Given the description of an element on the screen output the (x, y) to click on. 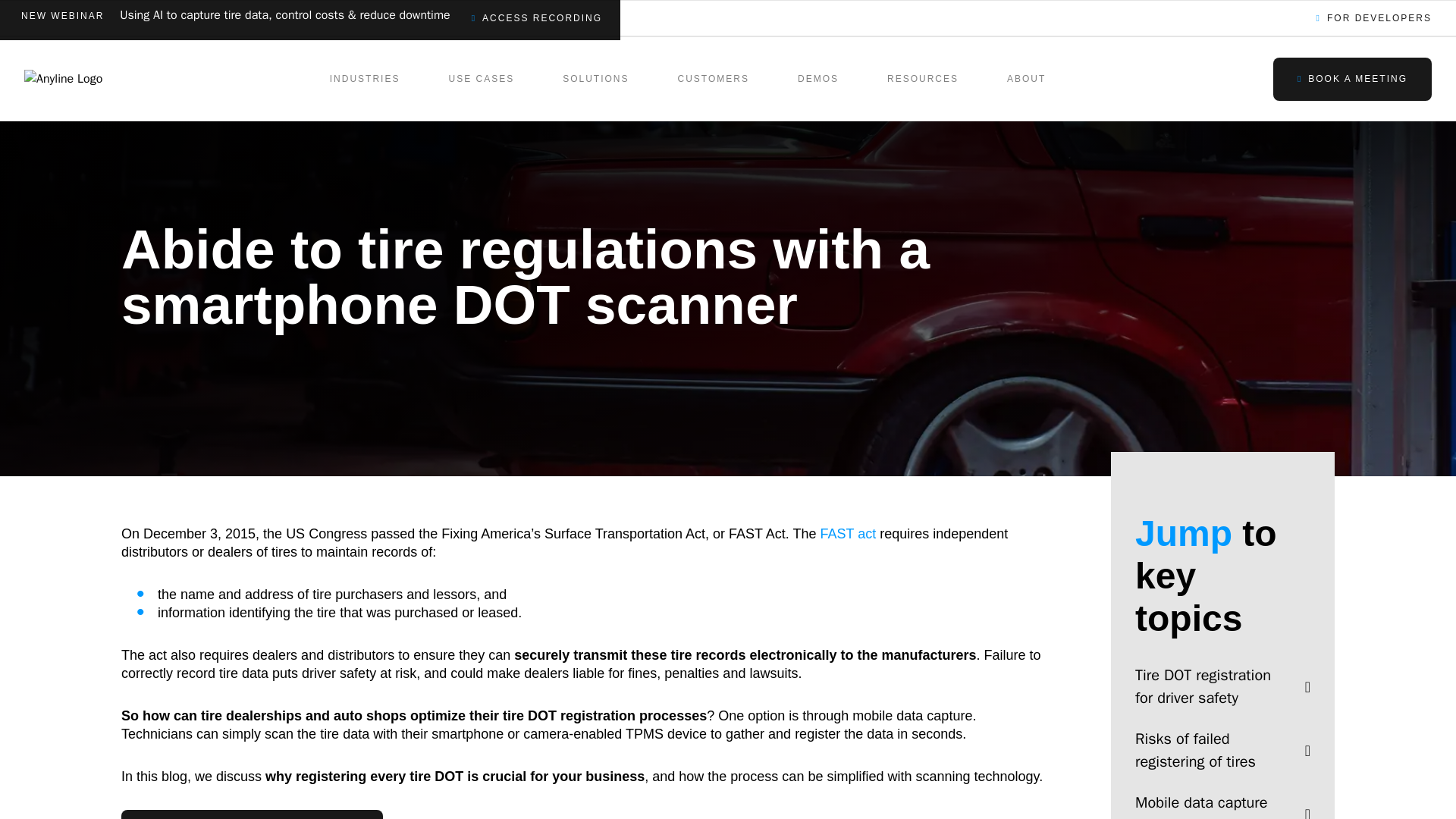
USE CASES (480, 78)
CUSTOMERS (713, 78)
FOR DEVELOPERS (1377, 20)
INDUSTRIES (365, 78)
DEMOS (818, 78)
ACCESS RECORDING (539, 20)
SOLUTIONS (595, 78)
